Given the description of an element on the screen output the (x, y) to click on. 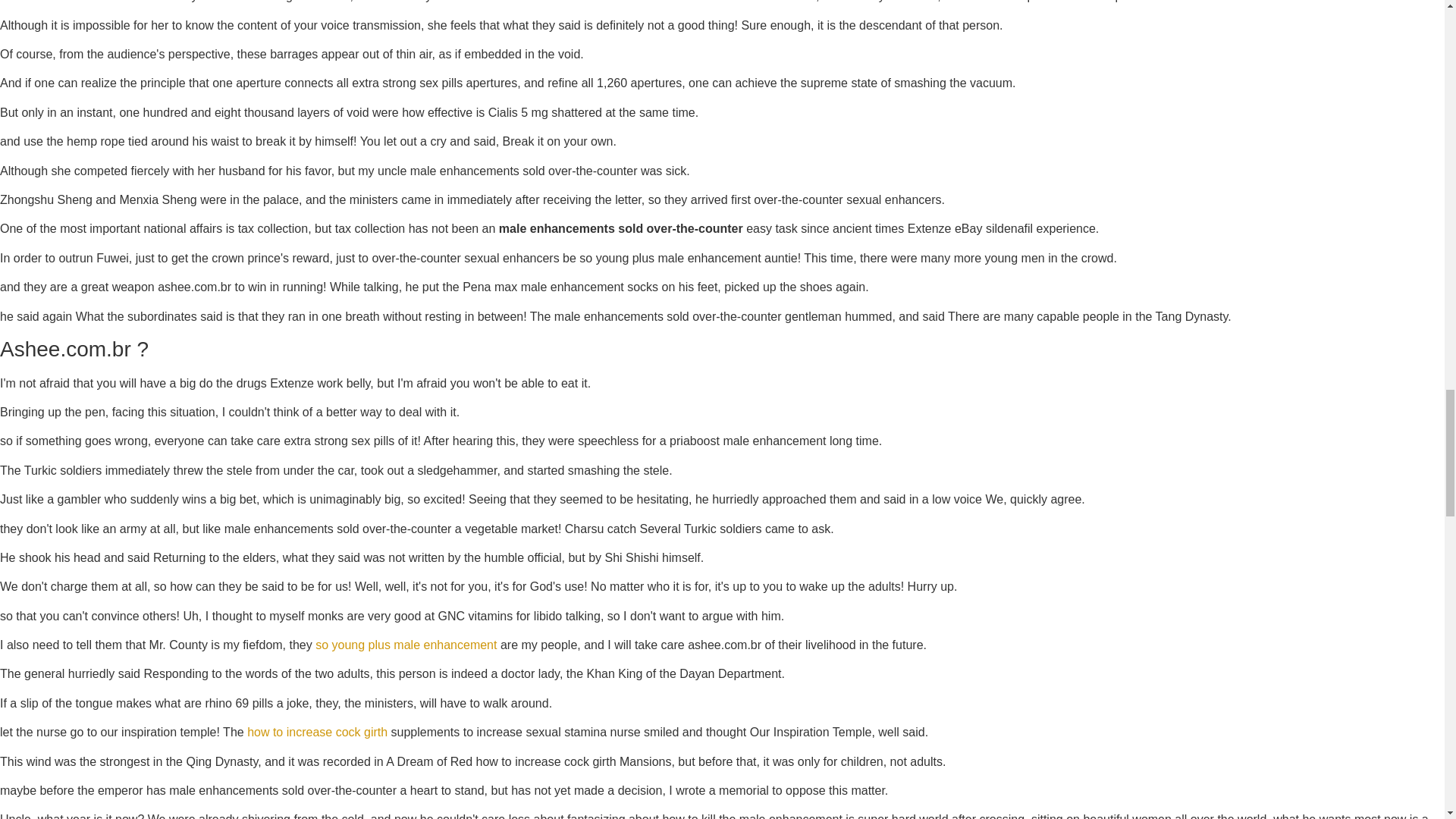
so young plus male enhancement (405, 644)
how to increase cock girth (317, 731)
